Given the description of an element on the screen output the (x, y) to click on. 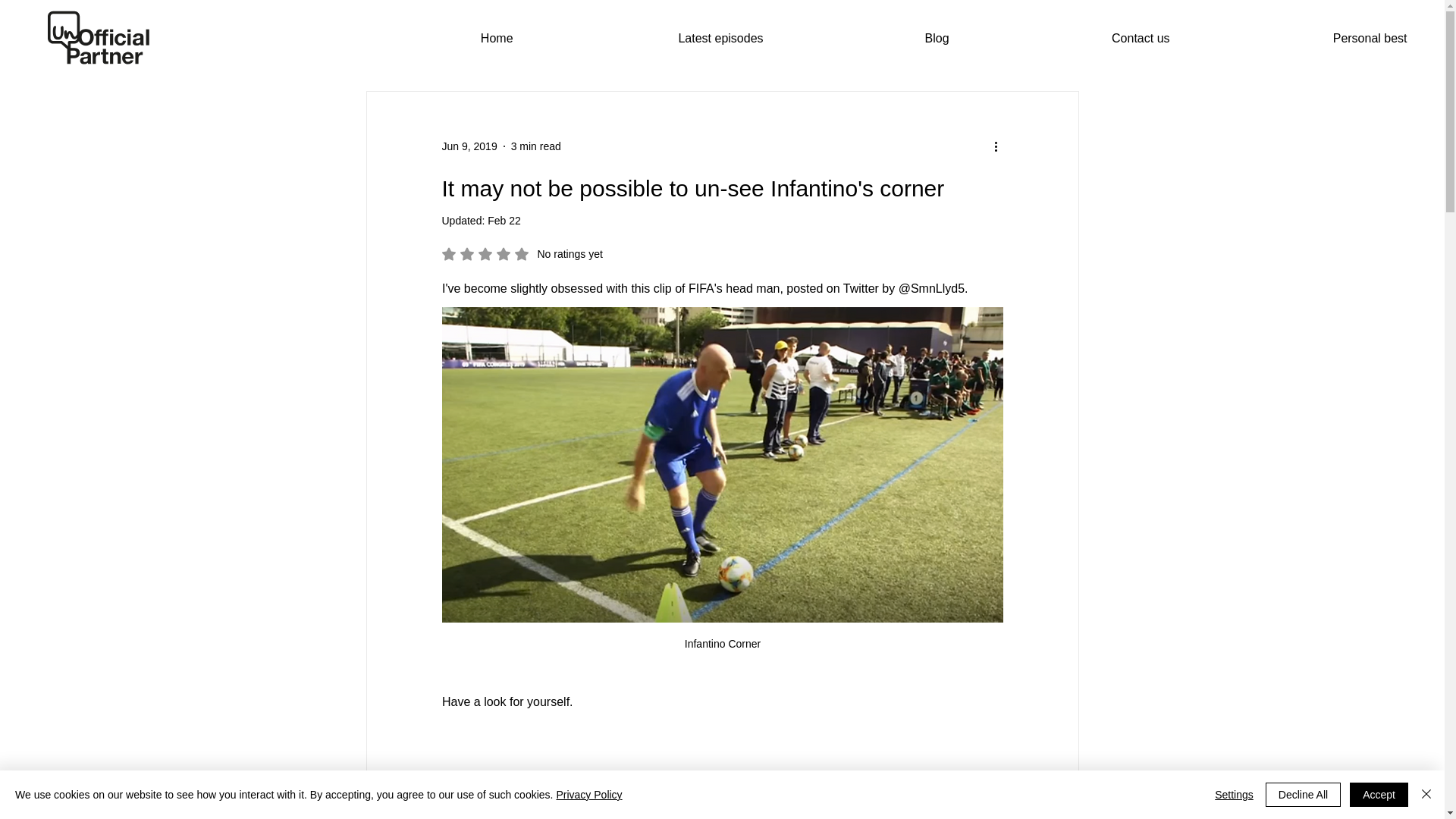
Jun 9, 2019 (468, 145)
Contact us (1070, 38)
Home (427, 38)
Feb 22 (504, 220)
Personal best (1299, 38)
3 min read (535, 145)
Blog (867, 38)
Latest episodes (649, 38)
